Given the description of an element on the screen output the (x, y) to click on. 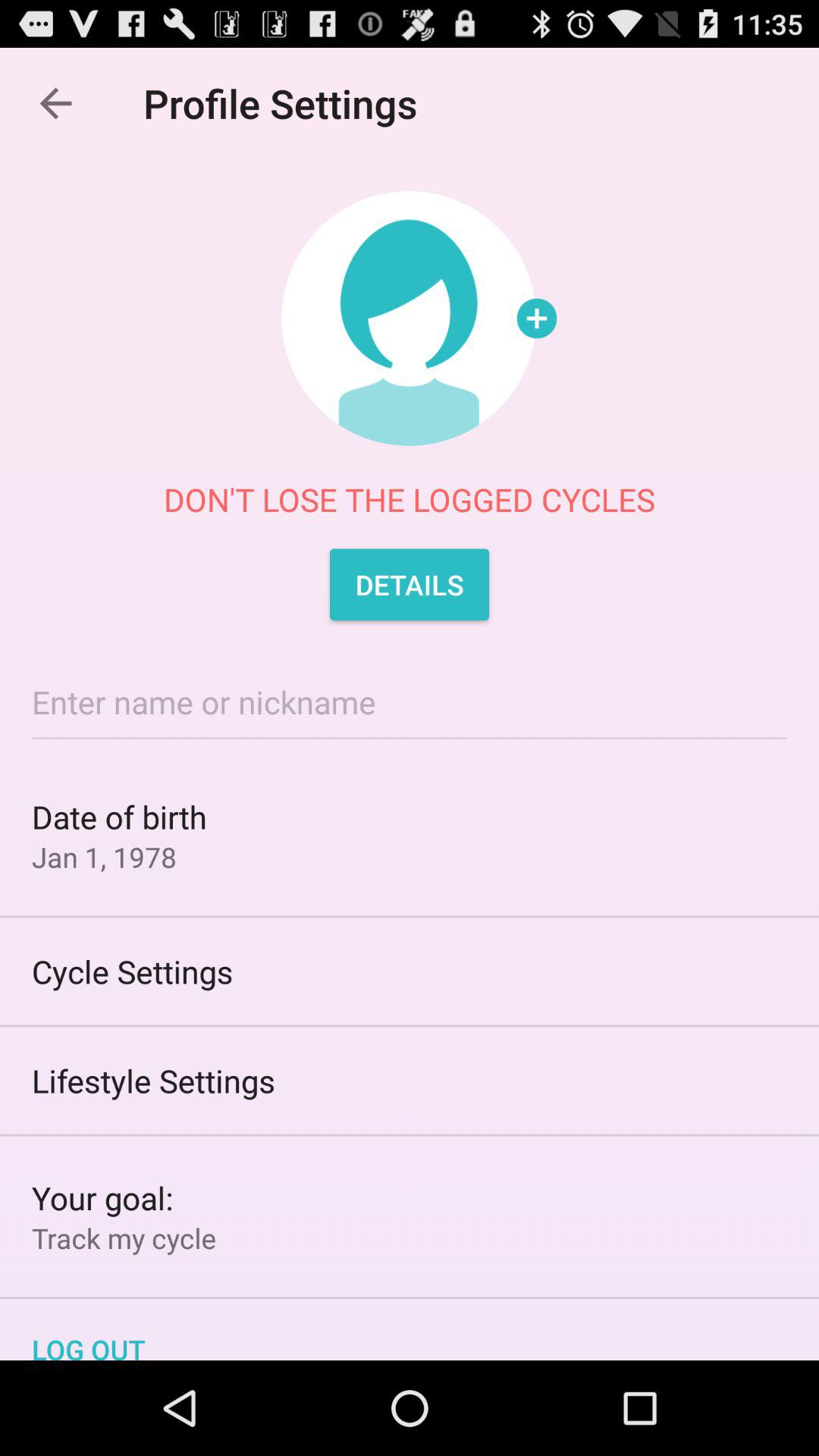
click cycle settings item (409, 970)
